Given the description of an element on the screen output the (x, y) to click on. 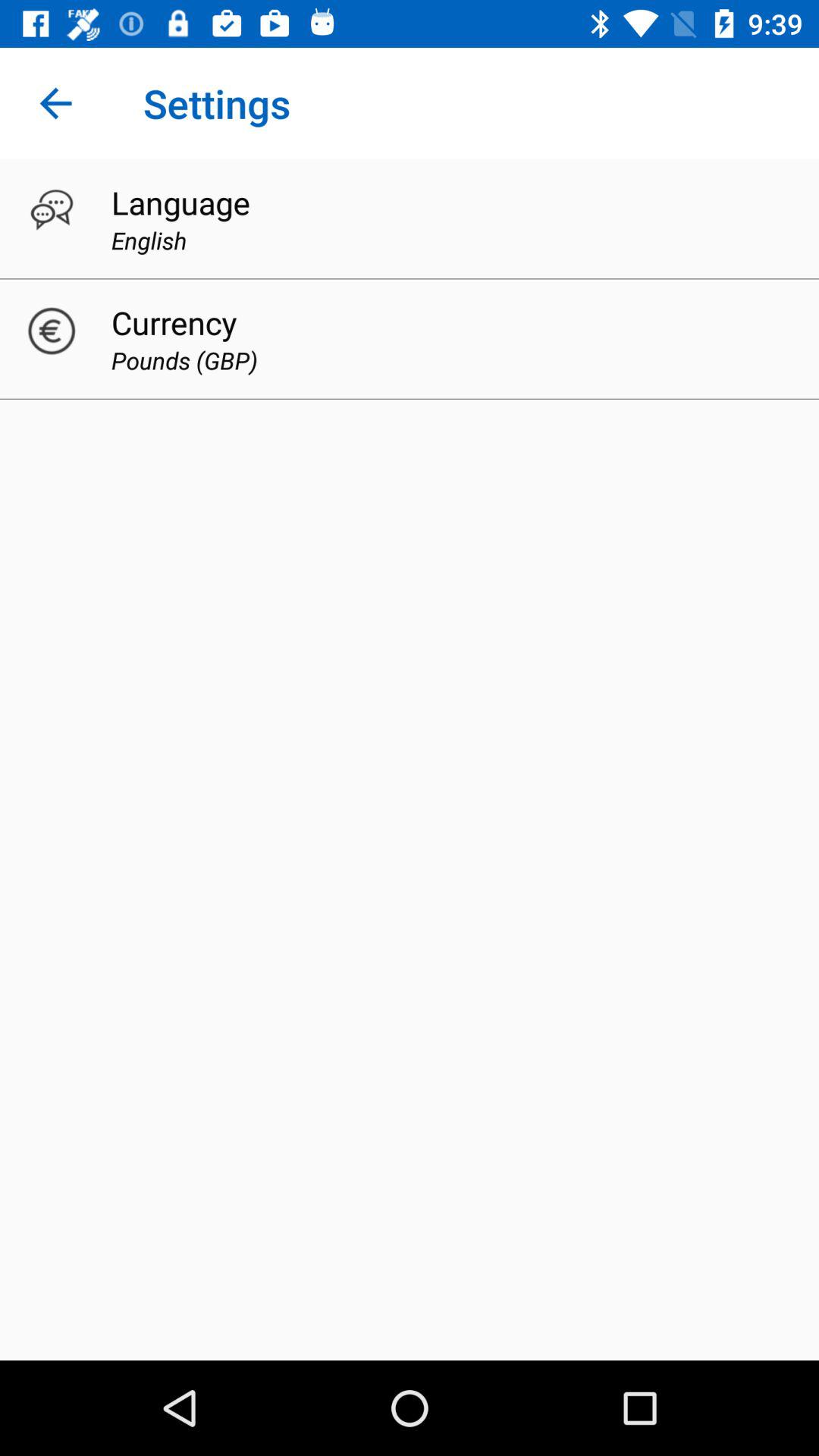
choose english item (149, 240)
